Given the description of an element on the screen output the (x, y) to click on. 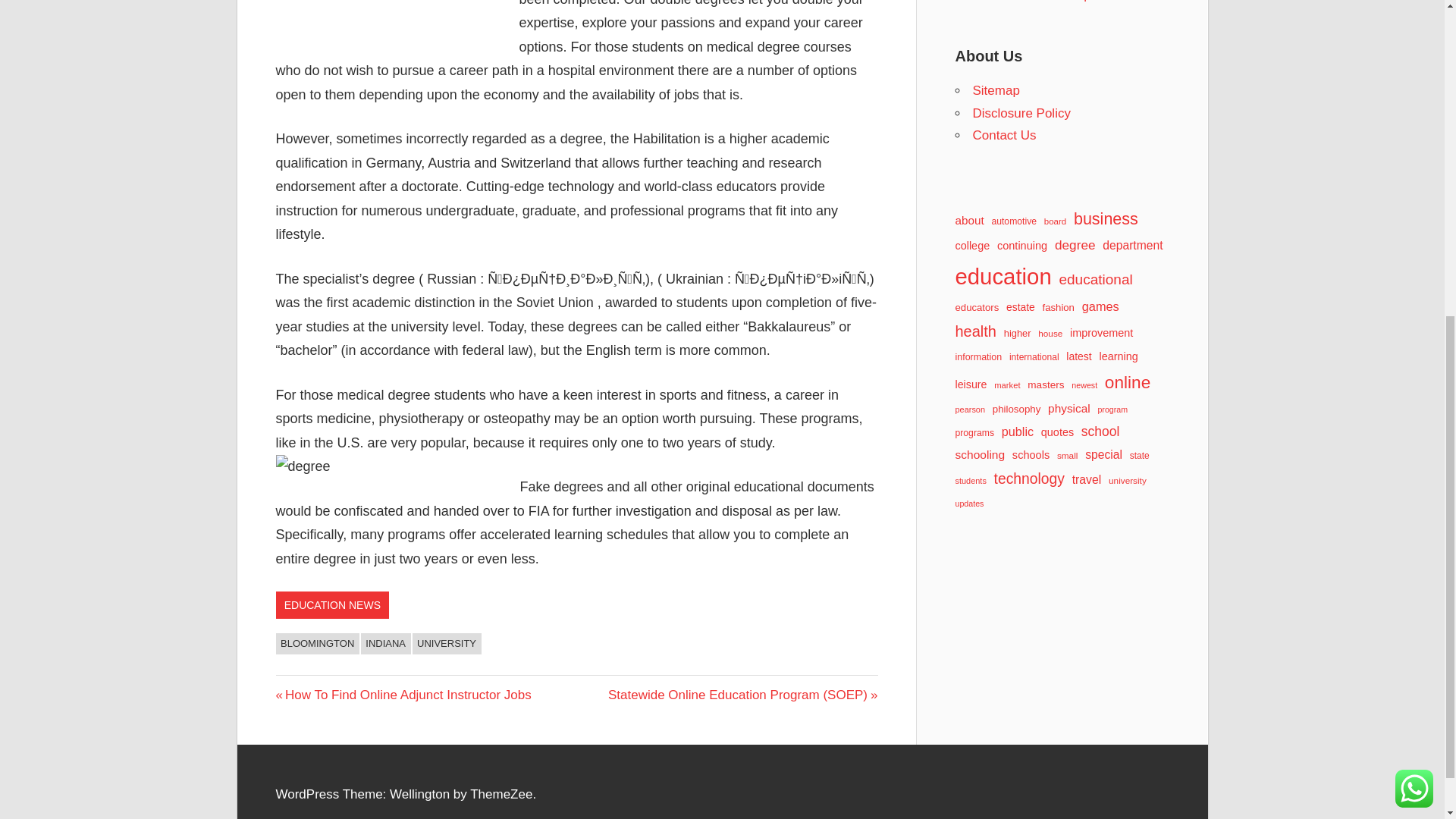
estate (1020, 307)
BLOOMINGTON (317, 643)
department (1131, 245)
UNIVERSITY (446, 643)
Disclosure Policy (1021, 113)
educational (1095, 278)
education (1003, 276)
EDUCATION NEWS (333, 605)
about (969, 220)
educators (976, 307)
